Given the description of an element on the screen output the (x, y) to click on. 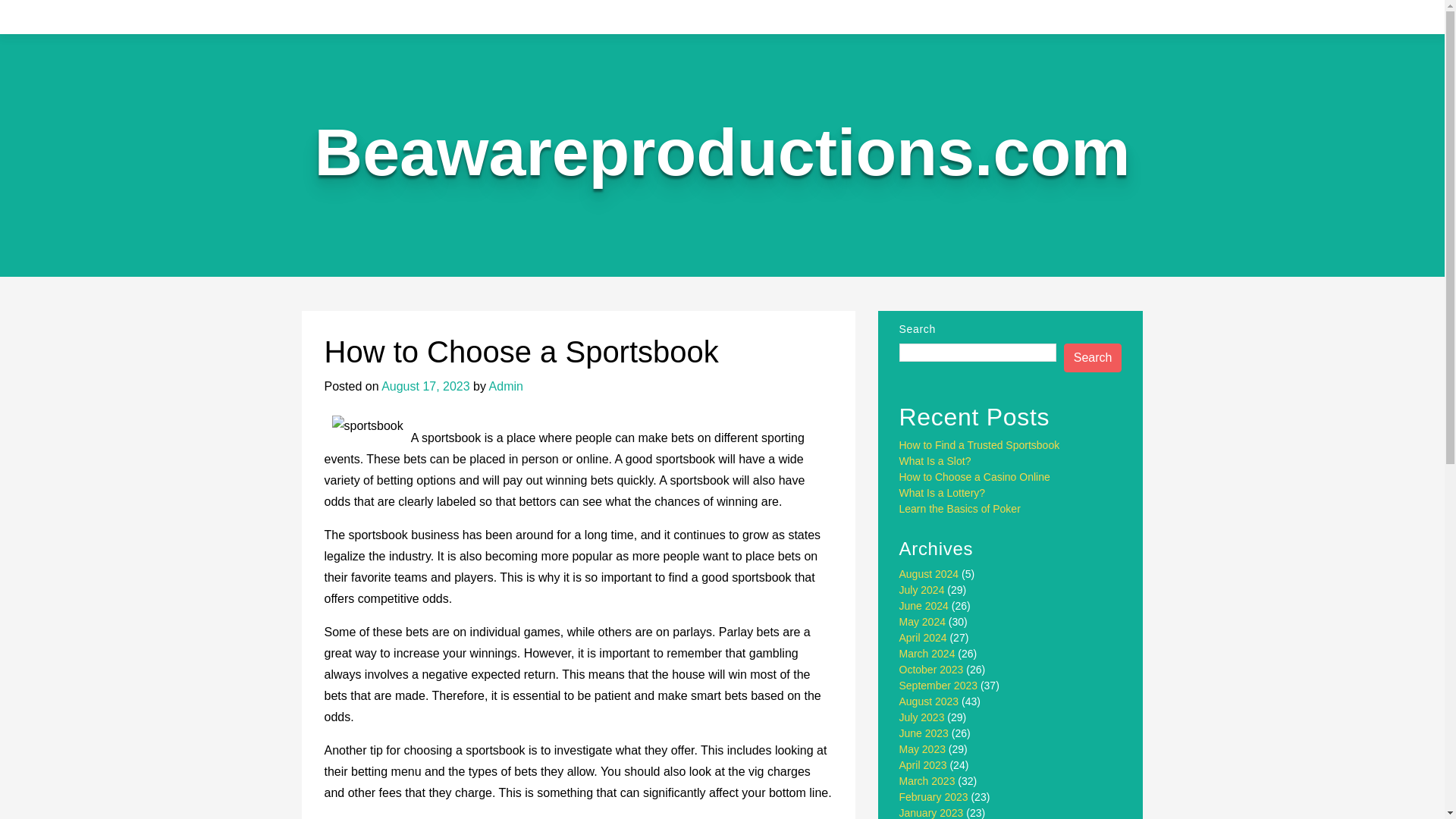
How to Find a Trusted Sportsbook (979, 444)
May 2024 (921, 621)
What Is a Slot? (935, 460)
April 2024 (923, 637)
Learn the Basics of Poker (959, 508)
July 2023 (921, 717)
March 2024 (927, 653)
May 2023 (921, 748)
August 2024 (929, 573)
March 2023 (927, 780)
